Given the description of an element on the screen output the (x, y) to click on. 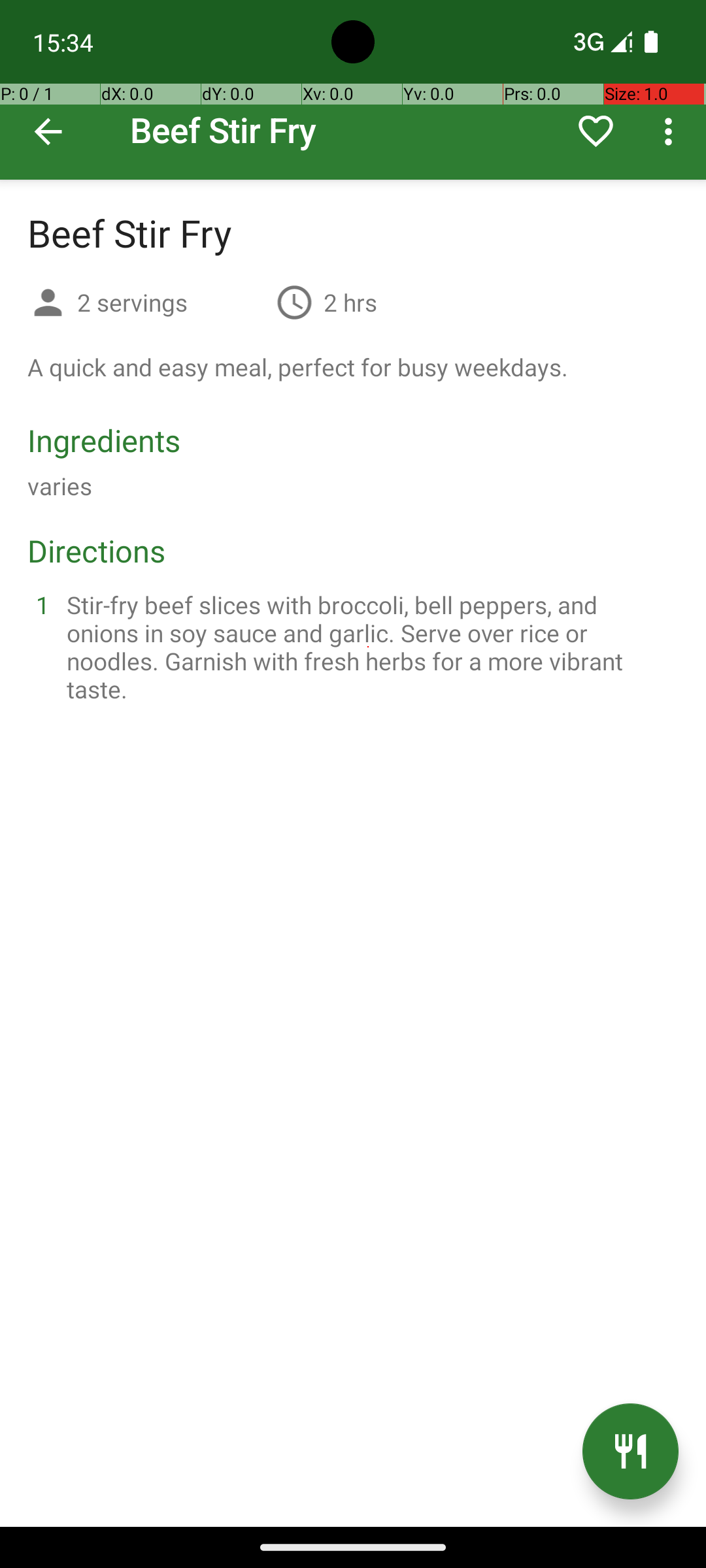
2 servings Element type: android.widget.TextView (170, 301)
2 hrs Element type: android.widget.TextView (350, 301)
varies Element type: android.widget.TextView (59, 485)
Stir-fry beef slices with broccoli, bell peppers, and onions in soy sauce and garlic. Serve over rice or noodles. Garnish with fresh herbs for a more vibrant taste. Element type: android.widget.TextView (368, 646)
